Given the description of an element on the screen output the (x, y) to click on. 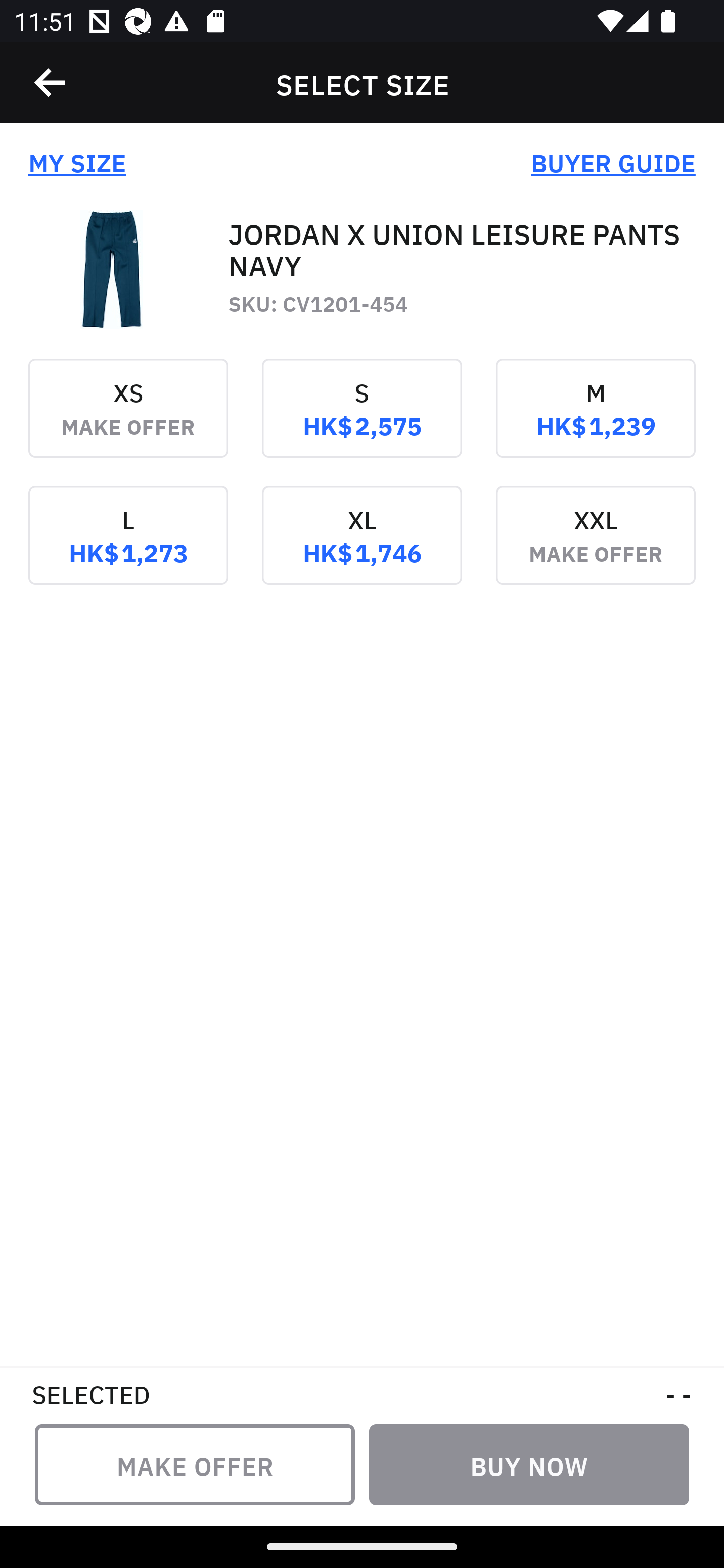
 (50, 83)
XS MAKE OFFER (128, 422)
S HK$ 2,575 (361, 422)
M HK$ 1,239 (595, 422)
L HK$ 1,273 (128, 549)
XL HK$ 1,746 (361, 549)
XXL MAKE OFFER (595, 549)
MAKE OFFER (194, 1464)
BUY NOW (529, 1464)
